Given the description of an element on the screen output the (x, y) to click on. 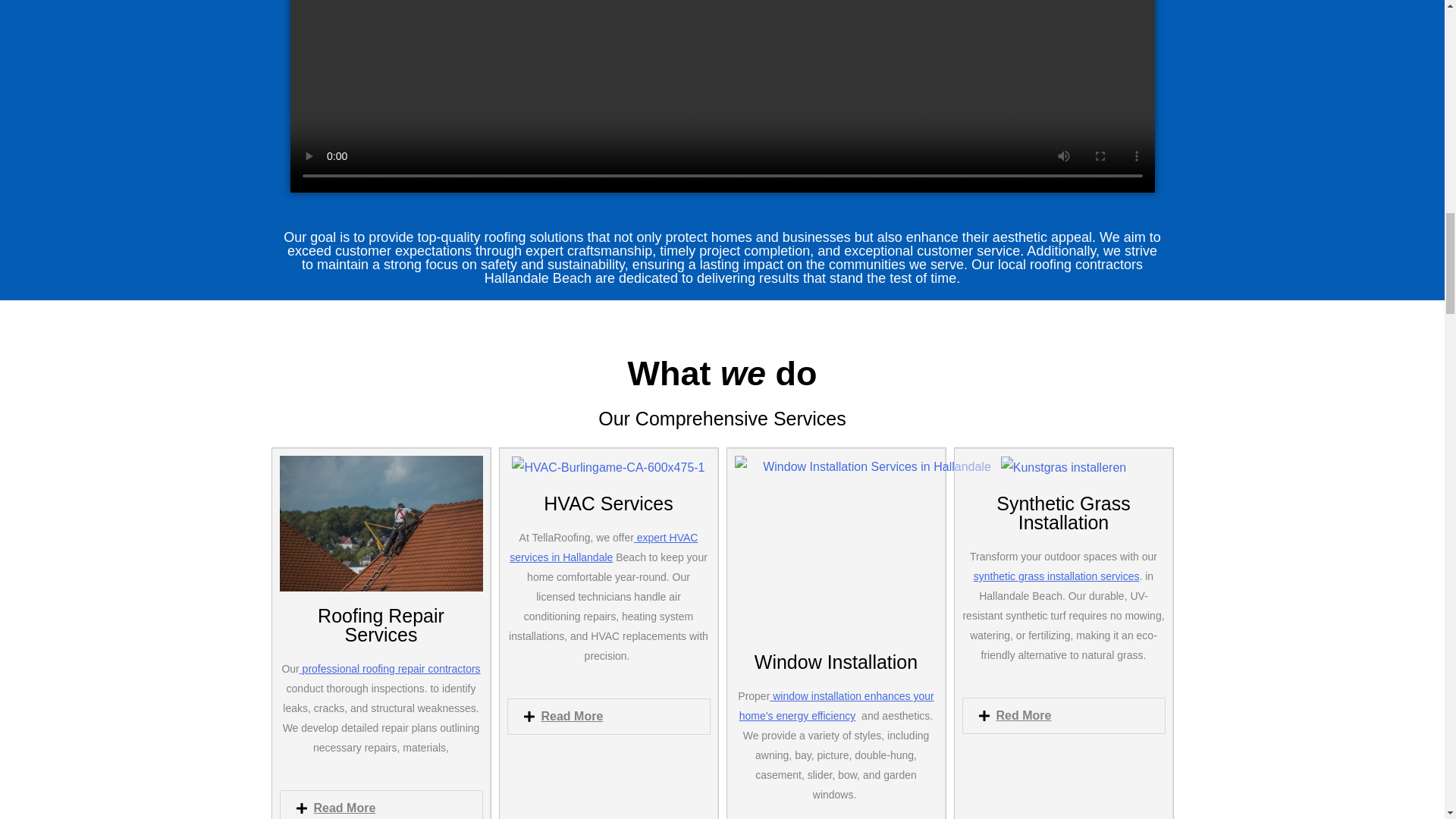
professional roofing repair contractors (389, 668)
expert HVAC services in Hallandale (603, 547)
Kunstgras installeren (1063, 467)
Read More (572, 716)
Read More (344, 807)
